Given the description of an element on the screen output the (x, y) to click on. 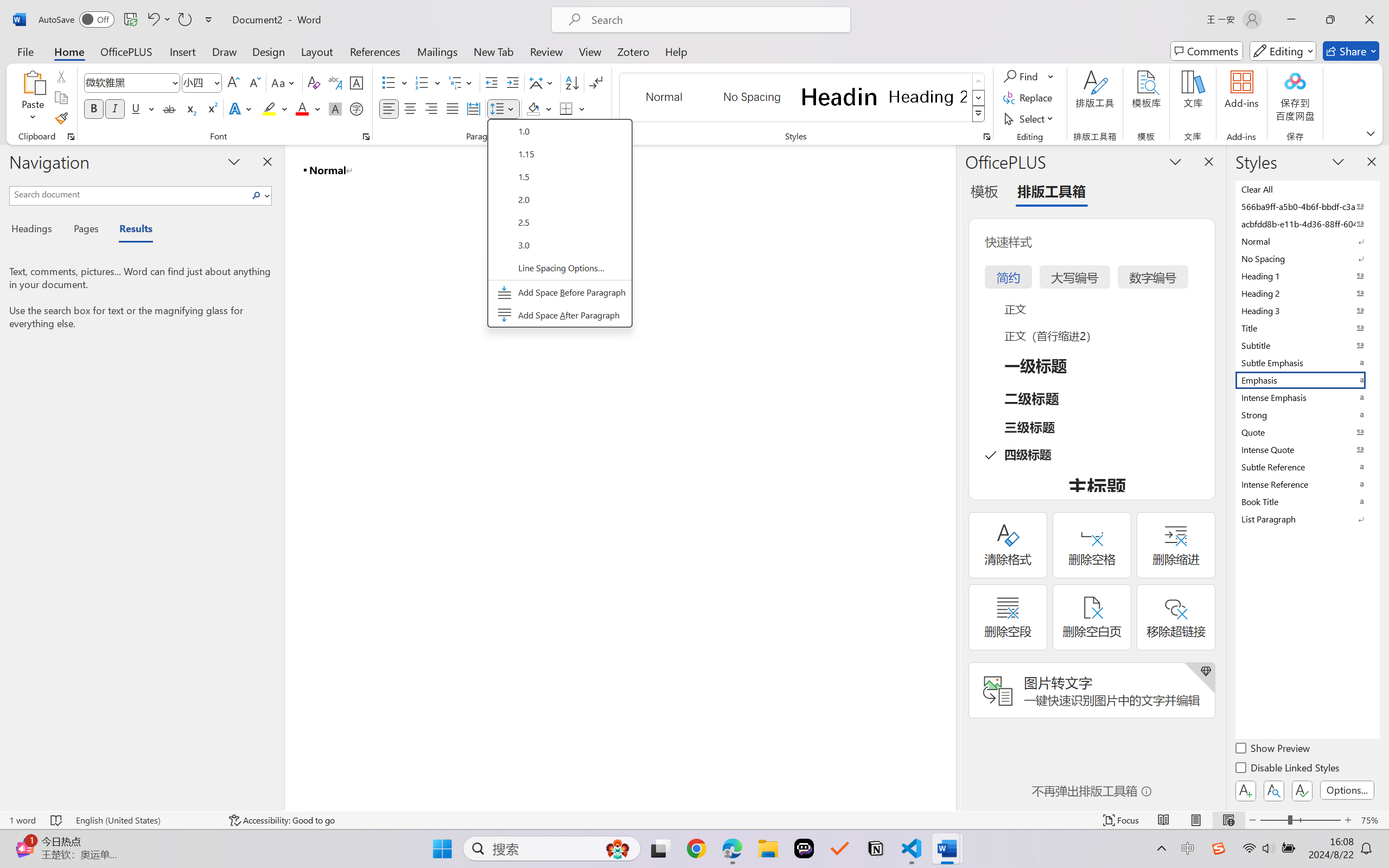
Sort... (571, 82)
Bullets (395, 82)
Open (215, 82)
Font Size (201, 82)
Font Color Red (302, 108)
Shrink Font (253, 82)
Headings (35, 229)
Mode (1283, 50)
Shading RGB(0, 0, 0) (533, 108)
Search document (128, 193)
Class: NetUIButton (1301, 790)
